Given the description of an element on the screen output the (x, y) to click on. 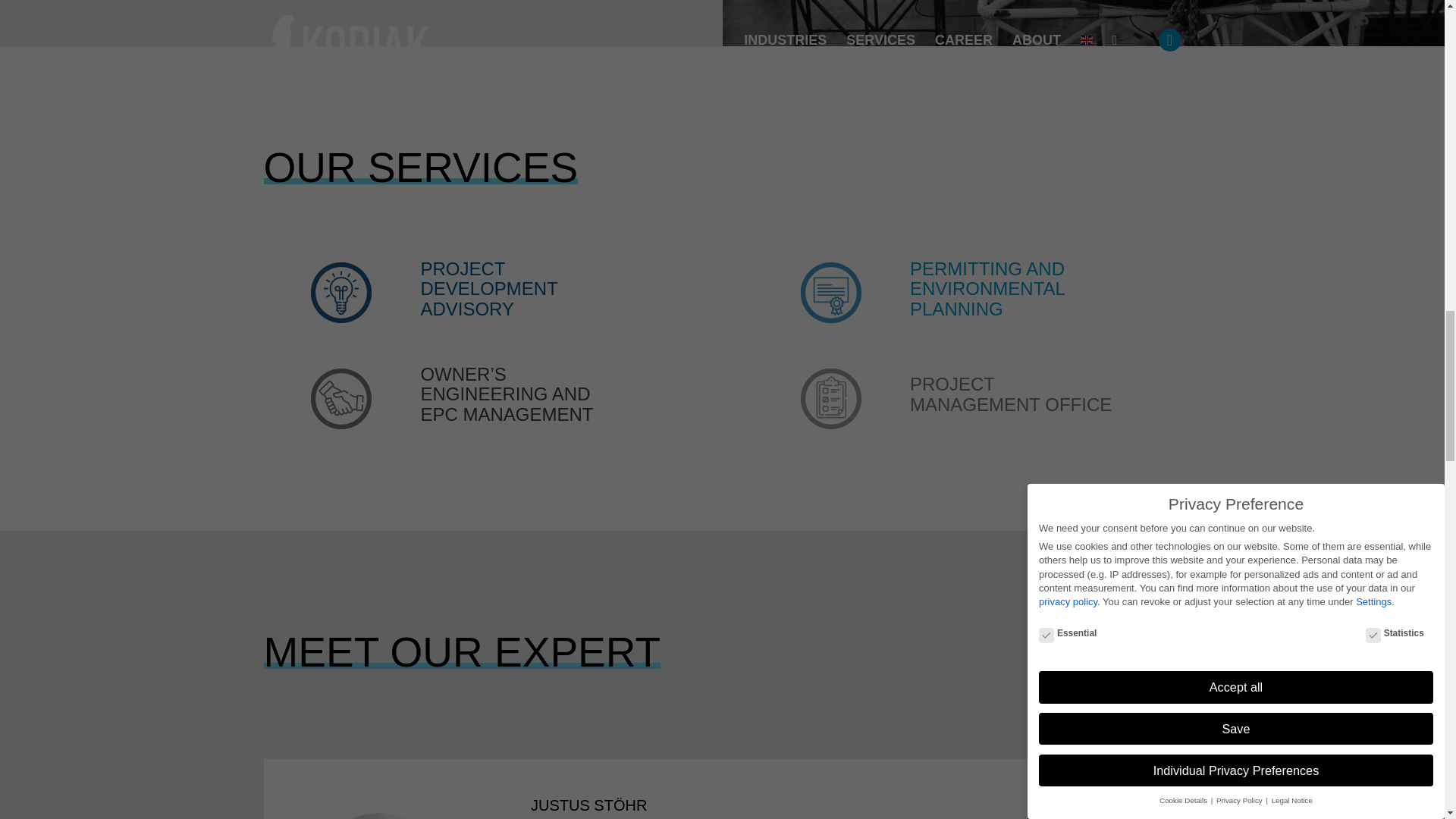
PROJECT MANAGEMENT OFFICE (1011, 393)
PERMITTING AND ENVIRONMENTAL PLANNING (987, 288)
PROJECT DEVELOPMENT ADVISORY (488, 288)
